Given the description of an element on the screen output the (x, y) to click on. 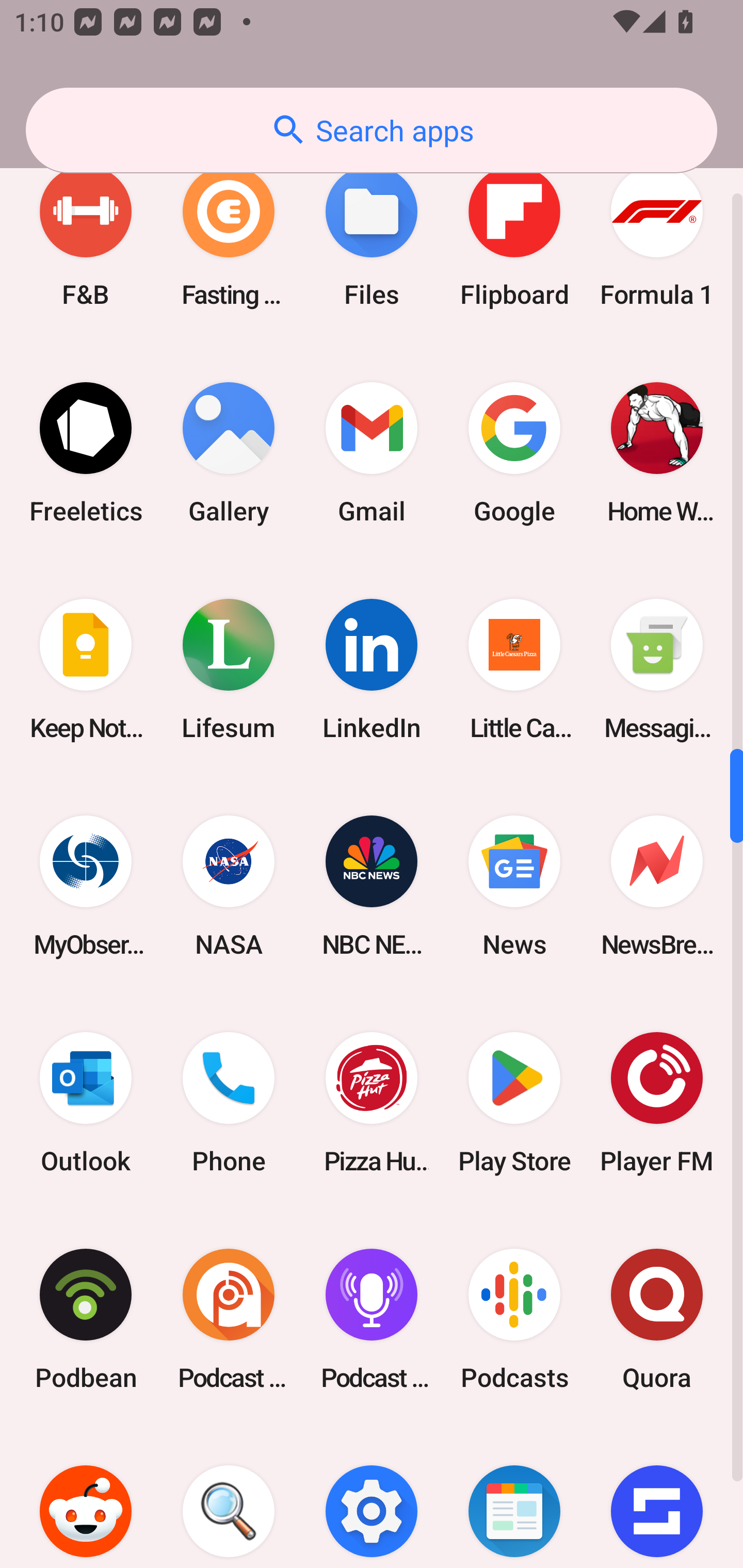
  Search apps (371, 130)
F&B (85, 236)
Fasting Coach (228, 236)
Files (371, 236)
Flipboard (514, 236)
Formula 1 (656, 236)
Freeletics (85, 452)
Gallery (228, 452)
Gmail (371, 452)
Google (514, 452)
Home Workout (656, 452)
Keep Notes (85, 669)
Lifesum (228, 669)
LinkedIn (371, 669)
Little Caesars Pizza (514, 669)
Messaging (656, 669)
MyObservatory (85, 885)
NASA (228, 885)
NBC NEWS (371, 885)
News (514, 885)
NewsBreak (656, 885)
Outlook (85, 1102)
Phone (228, 1102)
Pizza Hut HK & Macau (371, 1102)
Play Store (514, 1102)
Player FM (656, 1102)
Podbean (85, 1319)
Podcast Addict (228, 1319)
Podcast Player (371, 1319)
Podcasts (514, 1319)
Quora (656, 1319)
Reddit (85, 1498)
Search (228, 1498)
Settings (371, 1498)
SmartNews (514, 1498)
Sofascore (656, 1498)
